Given the description of an element on the screen output the (x, y) to click on. 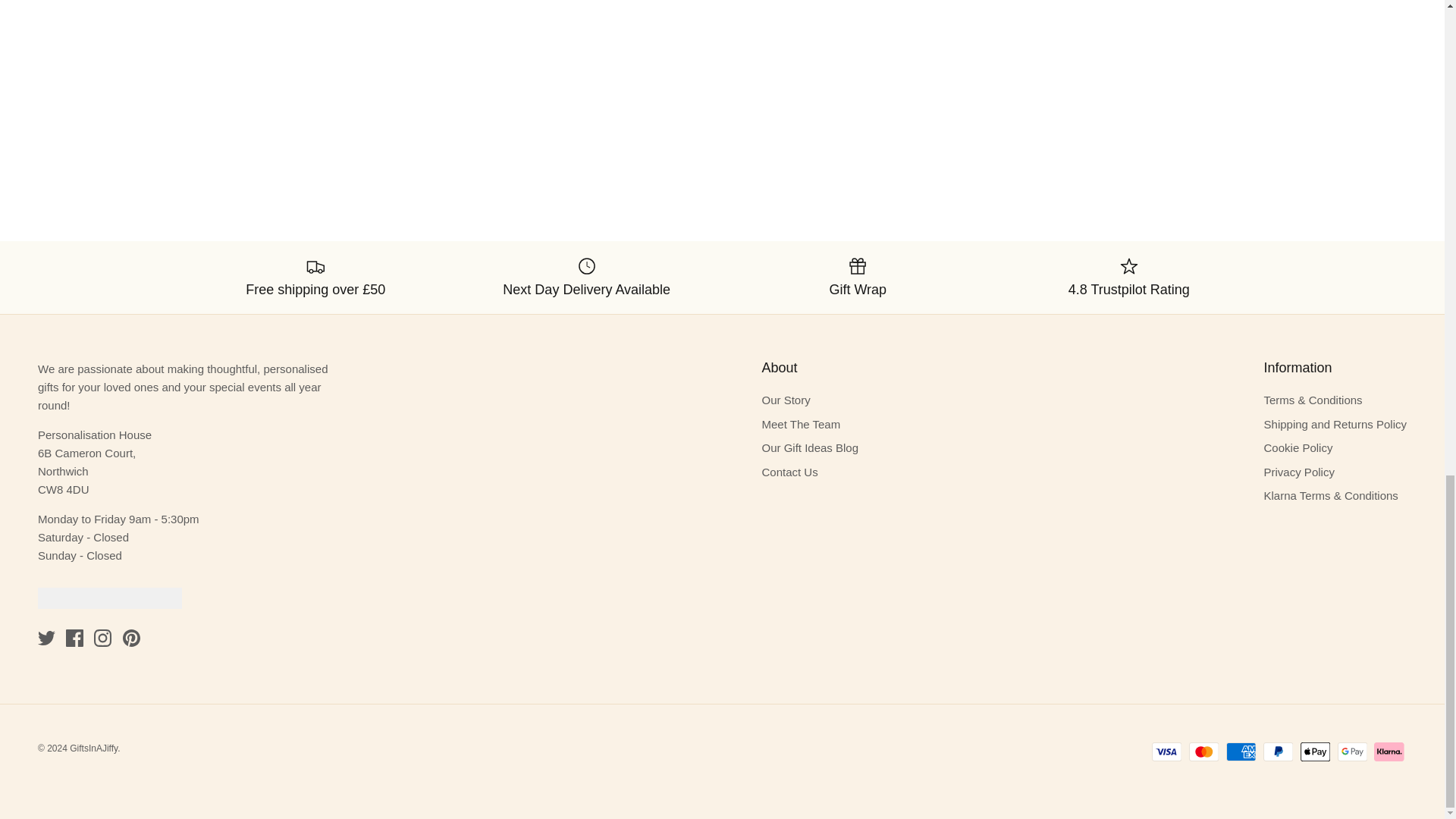
Pinterest (130, 638)
Instagram (103, 638)
Twitter (46, 638)
Facebook (73, 638)
Visa (1166, 751)
Mastercard (1203, 751)
